Given the description of an element on the screen output the (x, y) to click on. 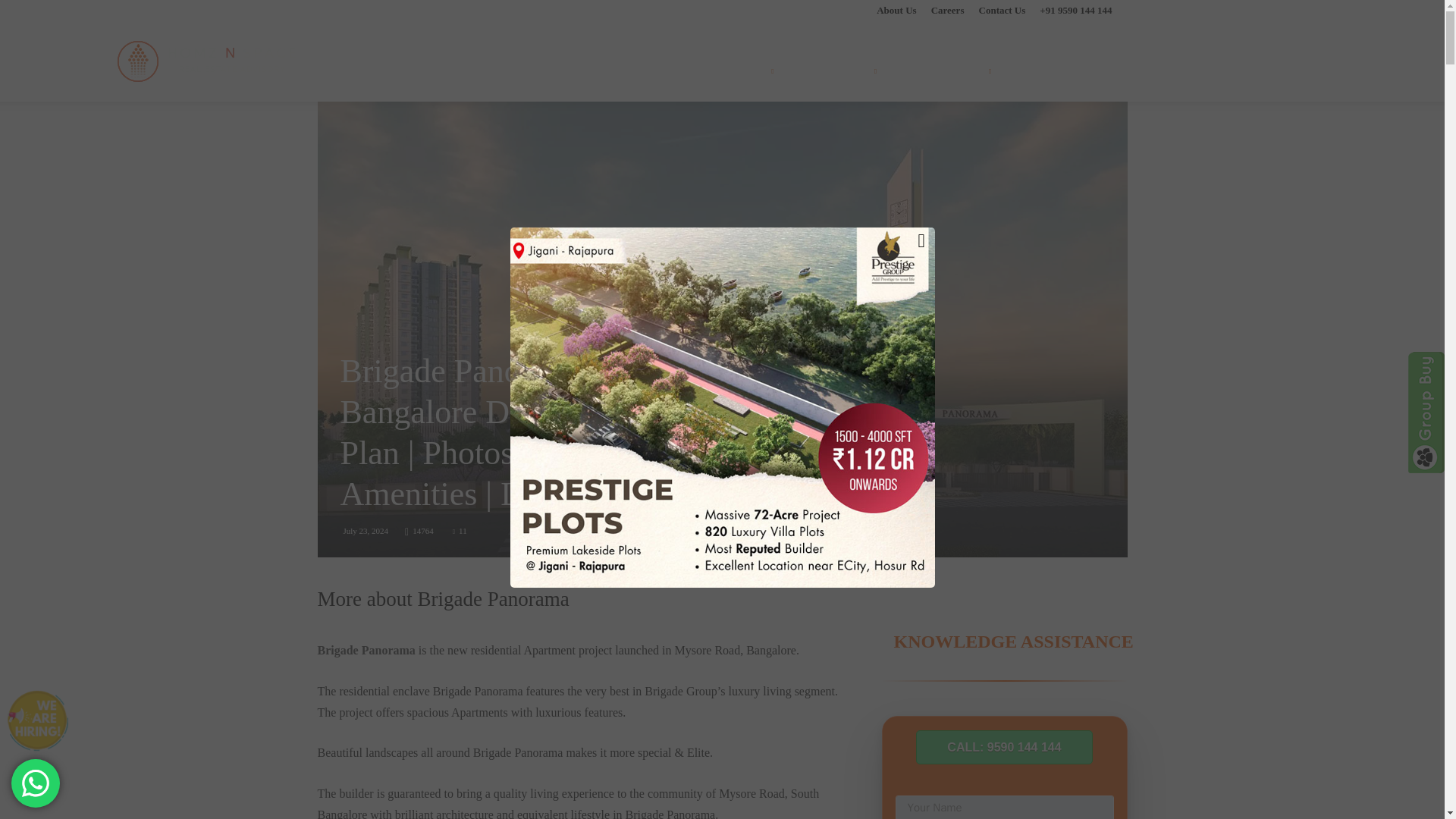
Careers (947, 9)
UPCOMING PROJECTS (656, 71)
About Us (895, 9)
CITIES (755, 71)
Contact Us (1002, 9)
Homz N Space (206, 61)
Search (1286, 143)
